Given the description of an element on the screen output the (x, y) to click on. 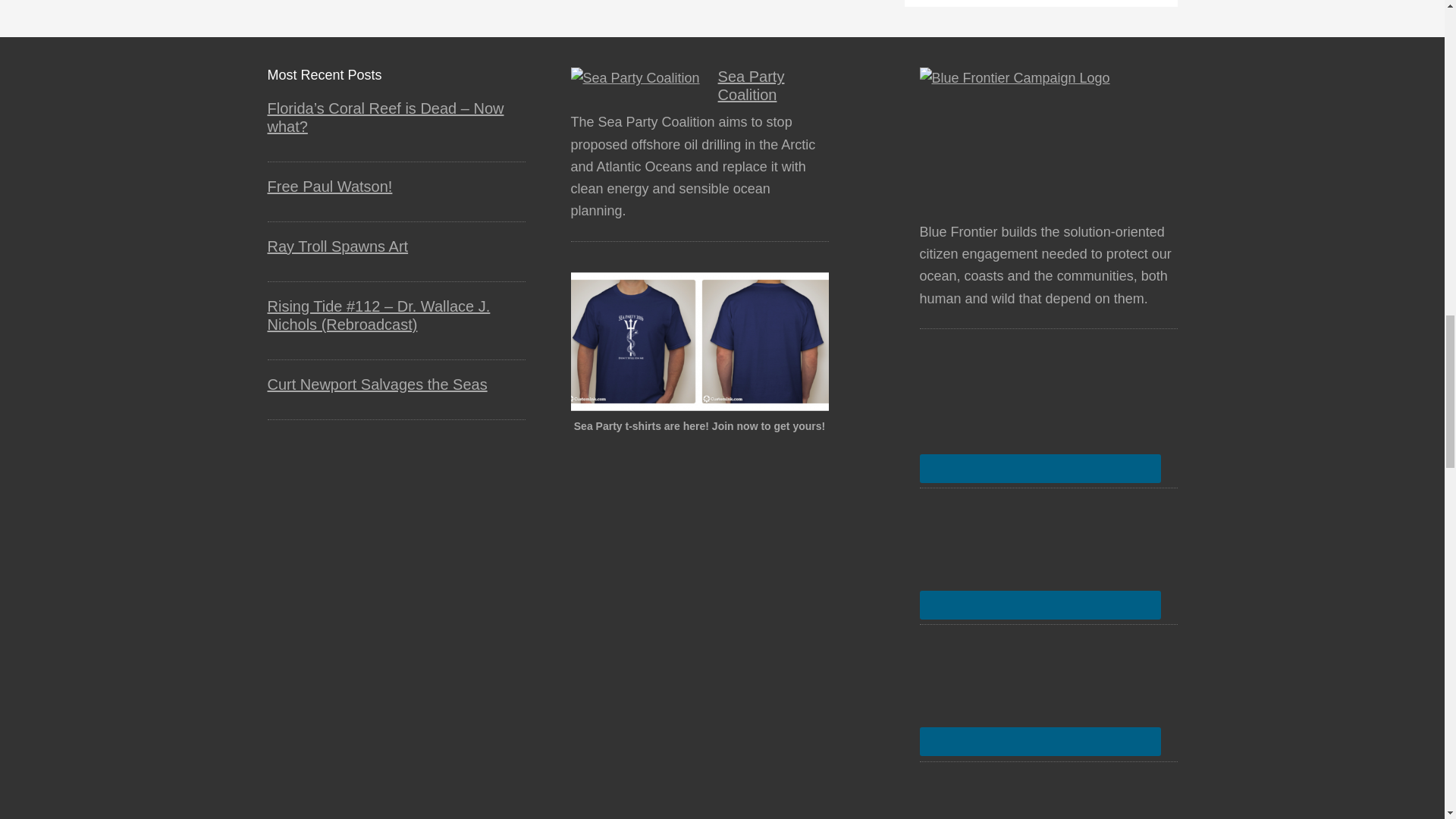
Flickr (1040, 552)
RSS (1040, 794)
Sea Party Coalition (634, 78)
Instagram (1040, 689)
Facebook (1040, 416)
About Us (1047, 135)
Sea Party Coalition (750, 85)
